Given the description of an element on the screen output the (x, y) to click on. 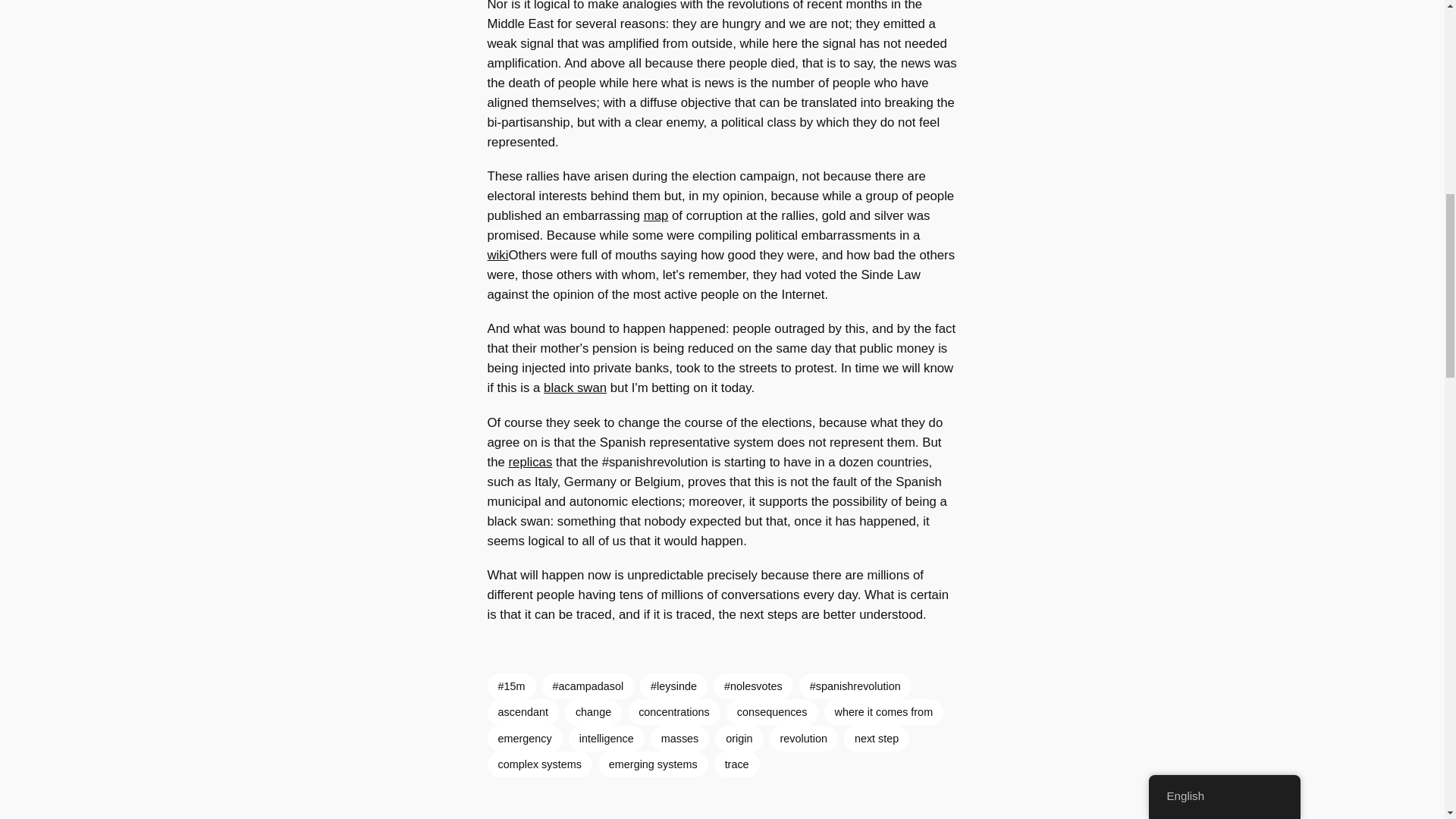
replicas (529, 462)
concentrations (673, 711)
intelligence (607, 738)
where it comes from (883, 711)
black swan (575, 387)
map (655, 215)
change (592, 711)
wiki (497, 255)
emergency (524, 738)
ascendant (521, 711)
